Given the description of an element on the screen output the (x, y) to click on. 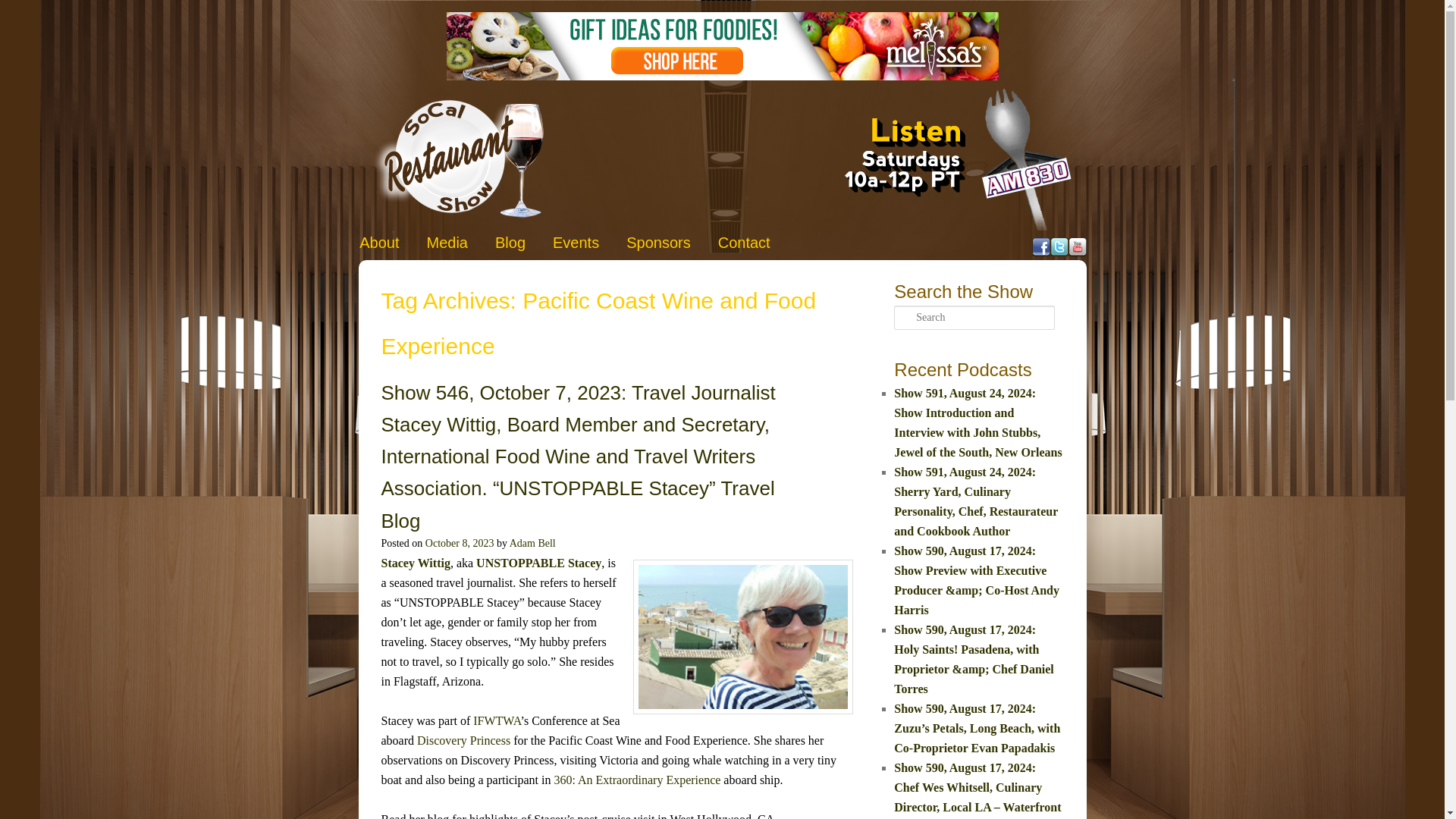
About (379, 242)
Discovery Princess (463, 739)
Skip to primary content (426, 240)
Blog (509, 242)
Skip to secondary content (431, 240)
Event Calendar (575, 242)
Media Gallery (447, 242)
Media (447, 242)
